Given the description of an element on the screen output the (x, y) to click on. 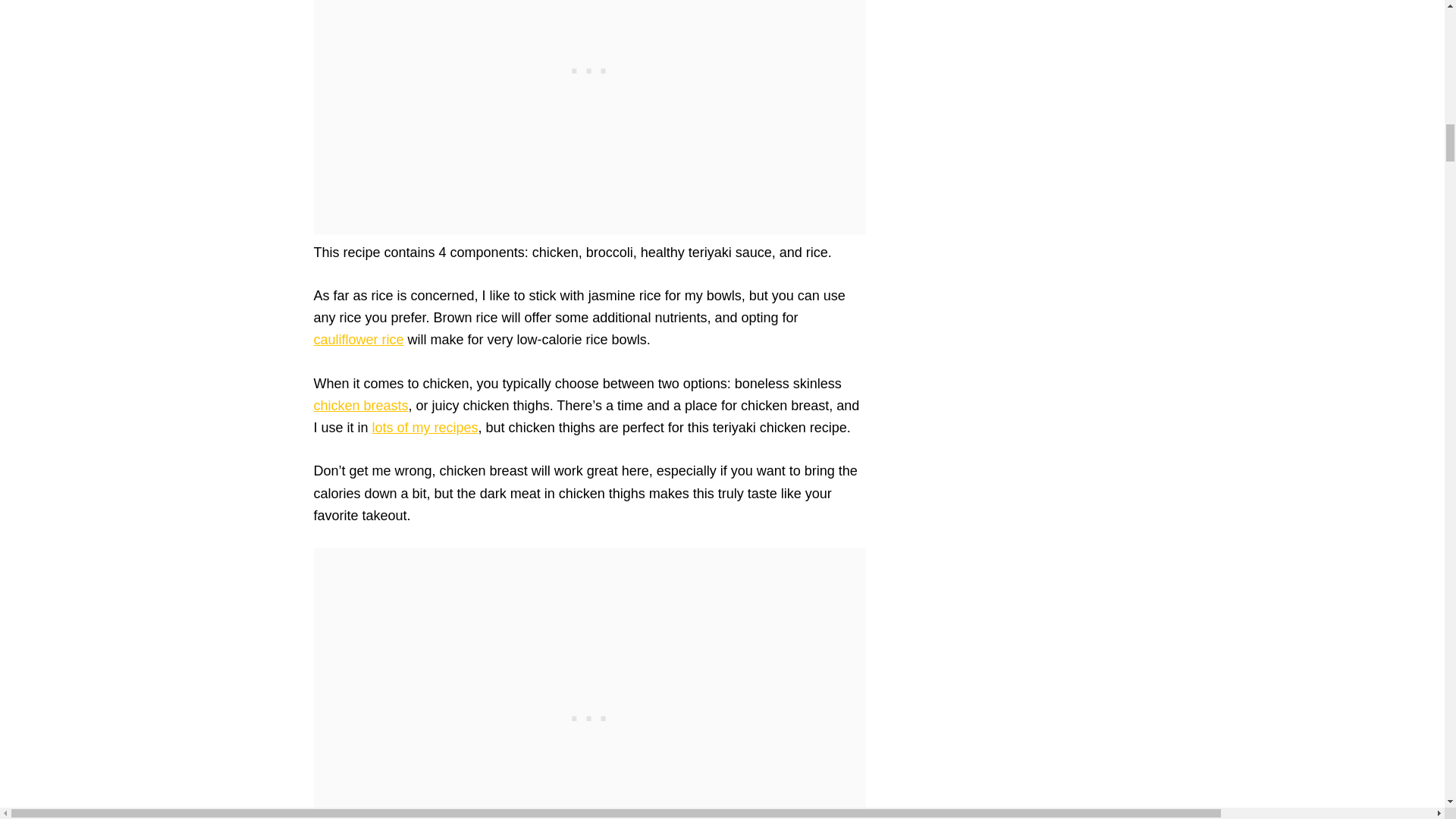
cauliflower rice (359, 339)
chicken breasts (361, 405)
lots of my recipes (425, 427)
